Given the description of an element on the screen output the (x, y) to click on. 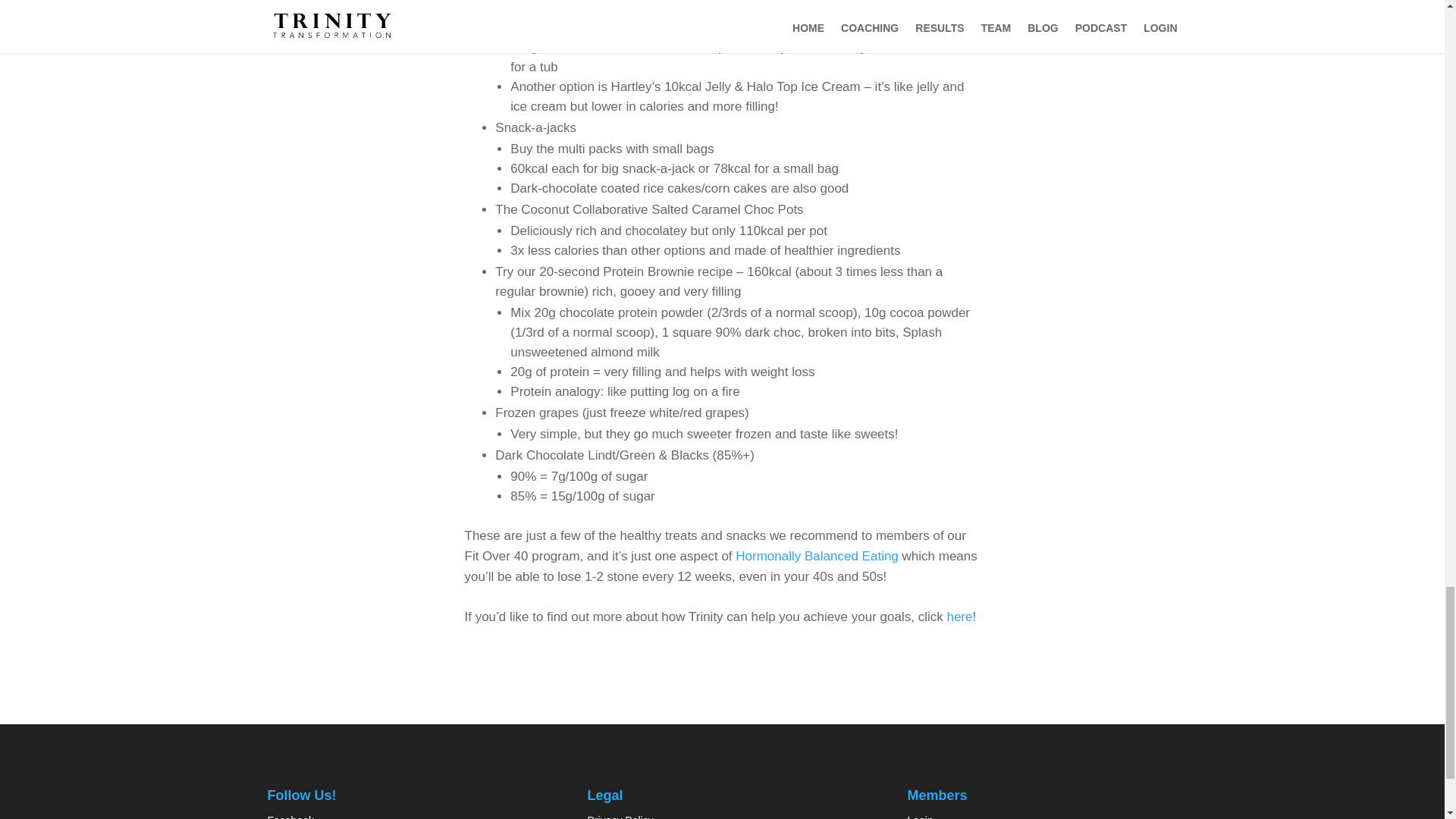
Hormonally Balanced Eating (816, 555)
here (959, 616)
